Given the description of an element on the screen output the (x, y) to click on. 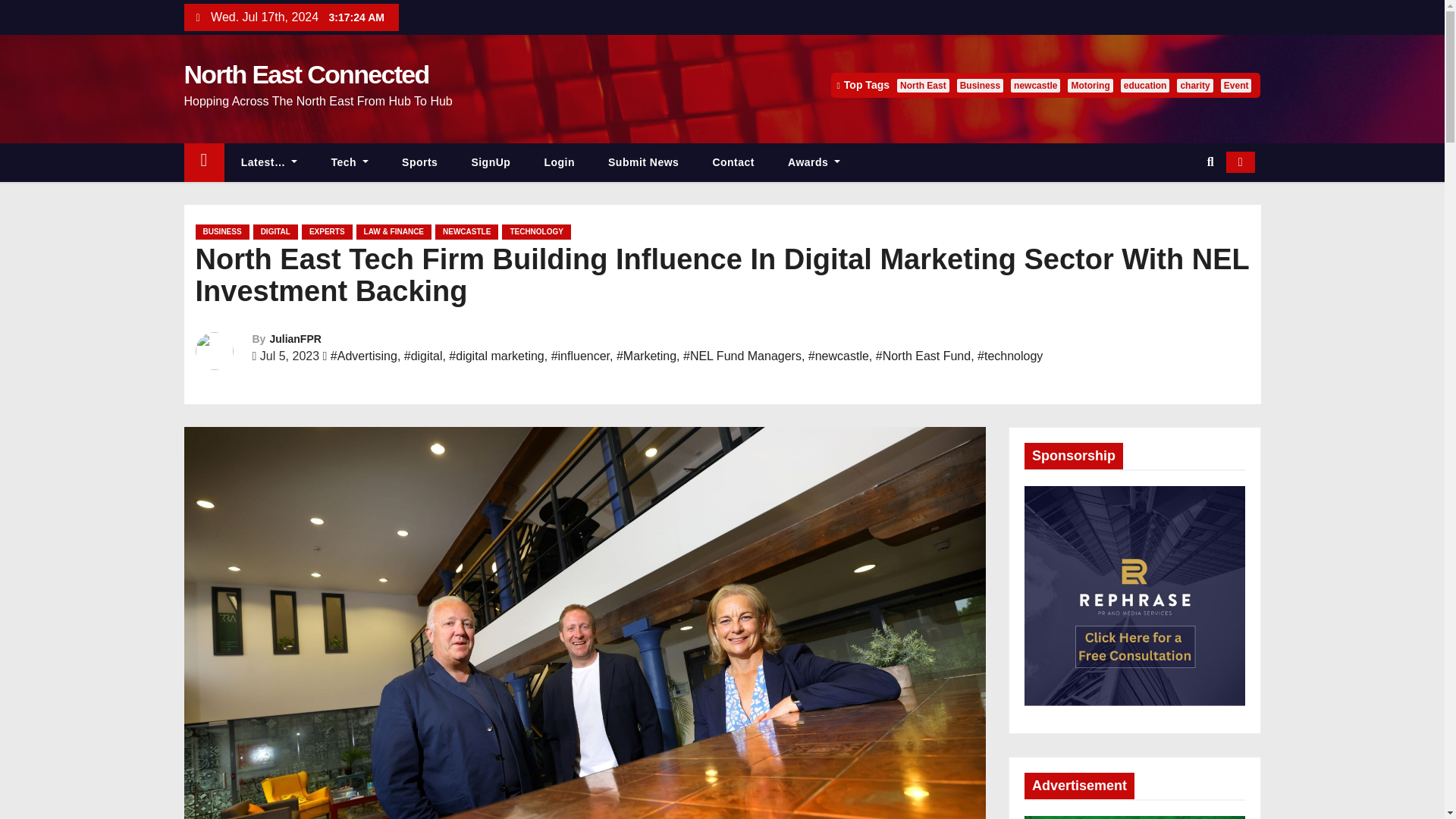
Contact (733, 162)
Submit News (643, 162)
SignUp (490, 162)
education (1145, 85)
BUSINESS (221, 231)
DIGITAL (275, 231)
Sports (419, 162)
Login (559, 162)
Contact (733, 162)
North East (922, 85)
Home (203, 162)
Login (559, 162)
Tech (349, 162)
Business (979, 85)
Tech (349, 162)
